Given the description of an element on the screen output the (x, y) to click on. 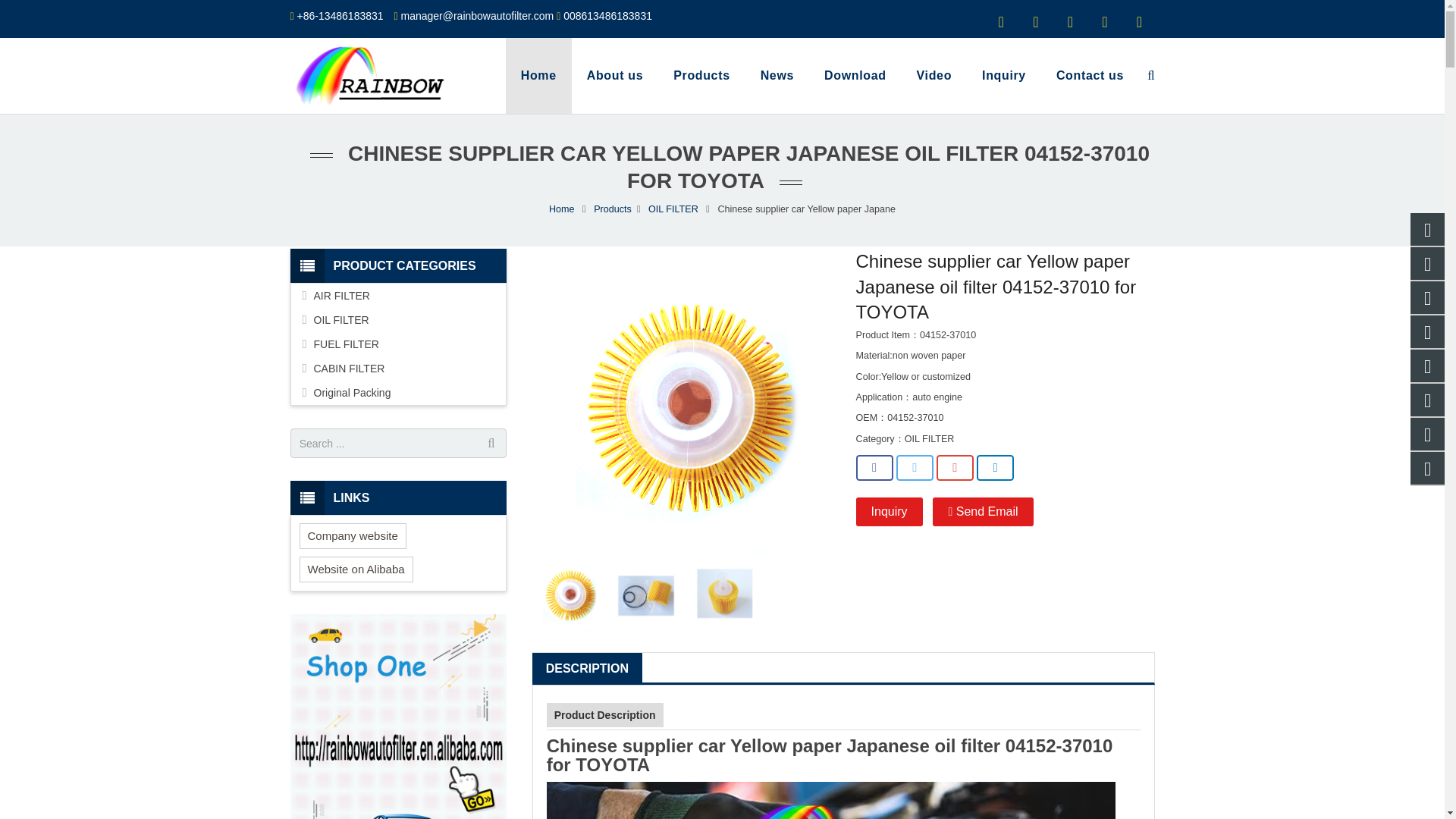
Products (701, 75)
008613486183831 (607, 15)
About us (615, 75)
Products (701, 75)
About us (615, 75)
